Given the description of an element on the screen output the (x, y) to click on. 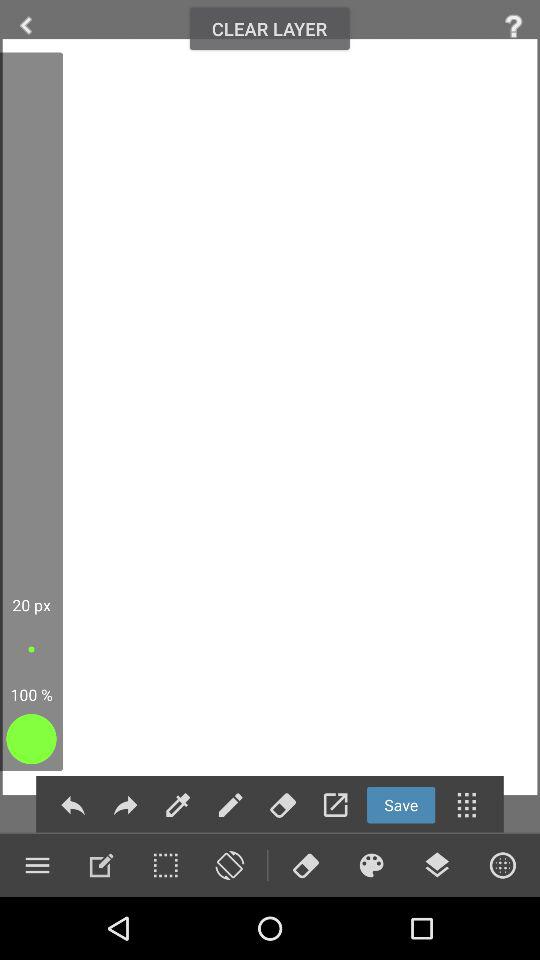
open menu (37, 865)
